Given the description of an element on the screen output the (x, y) to click on. 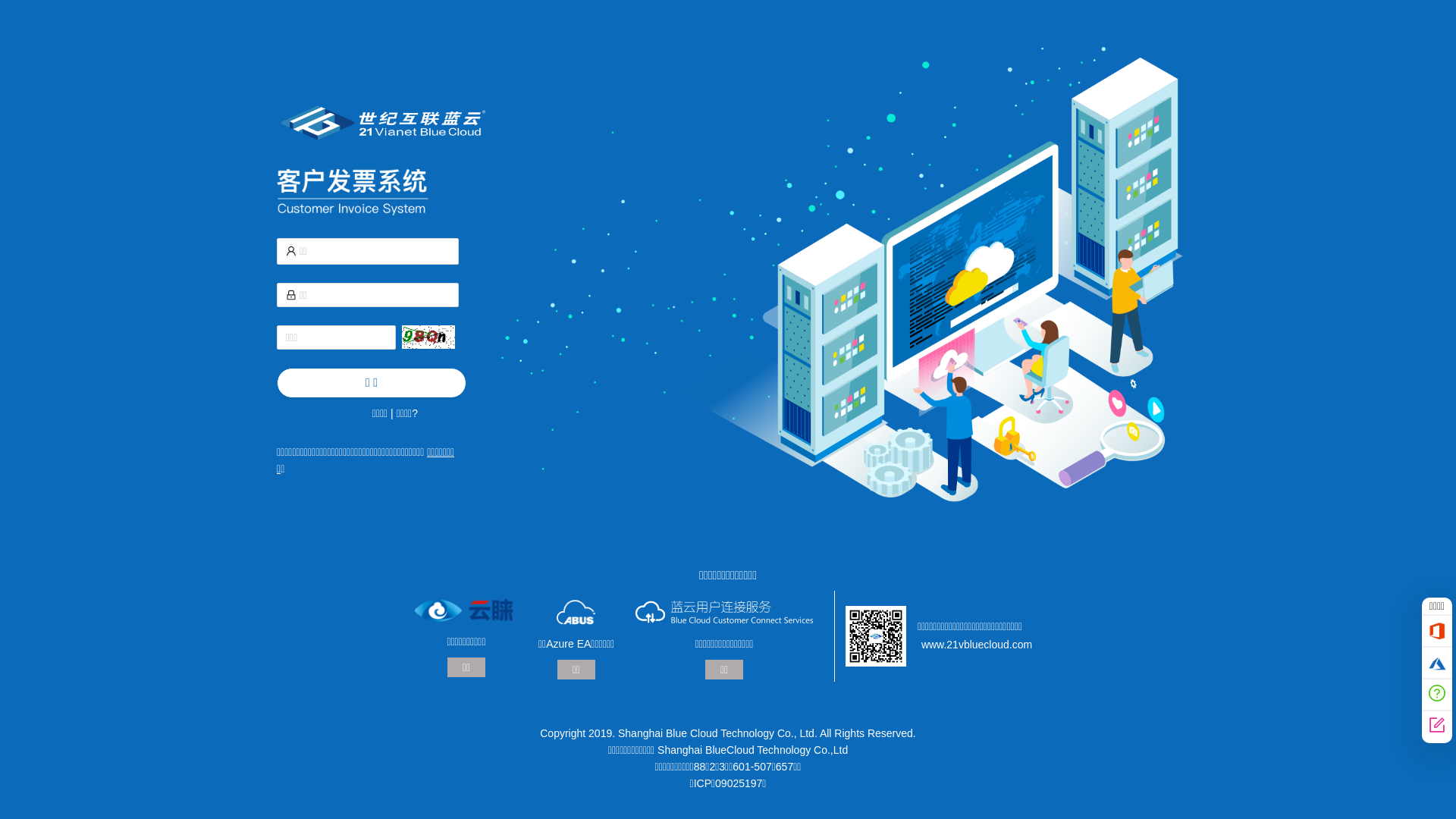
www.21vbluecloud.com Element type: text (976, 644)
